Given the description of an element on the screen output the (x, y) to click on. 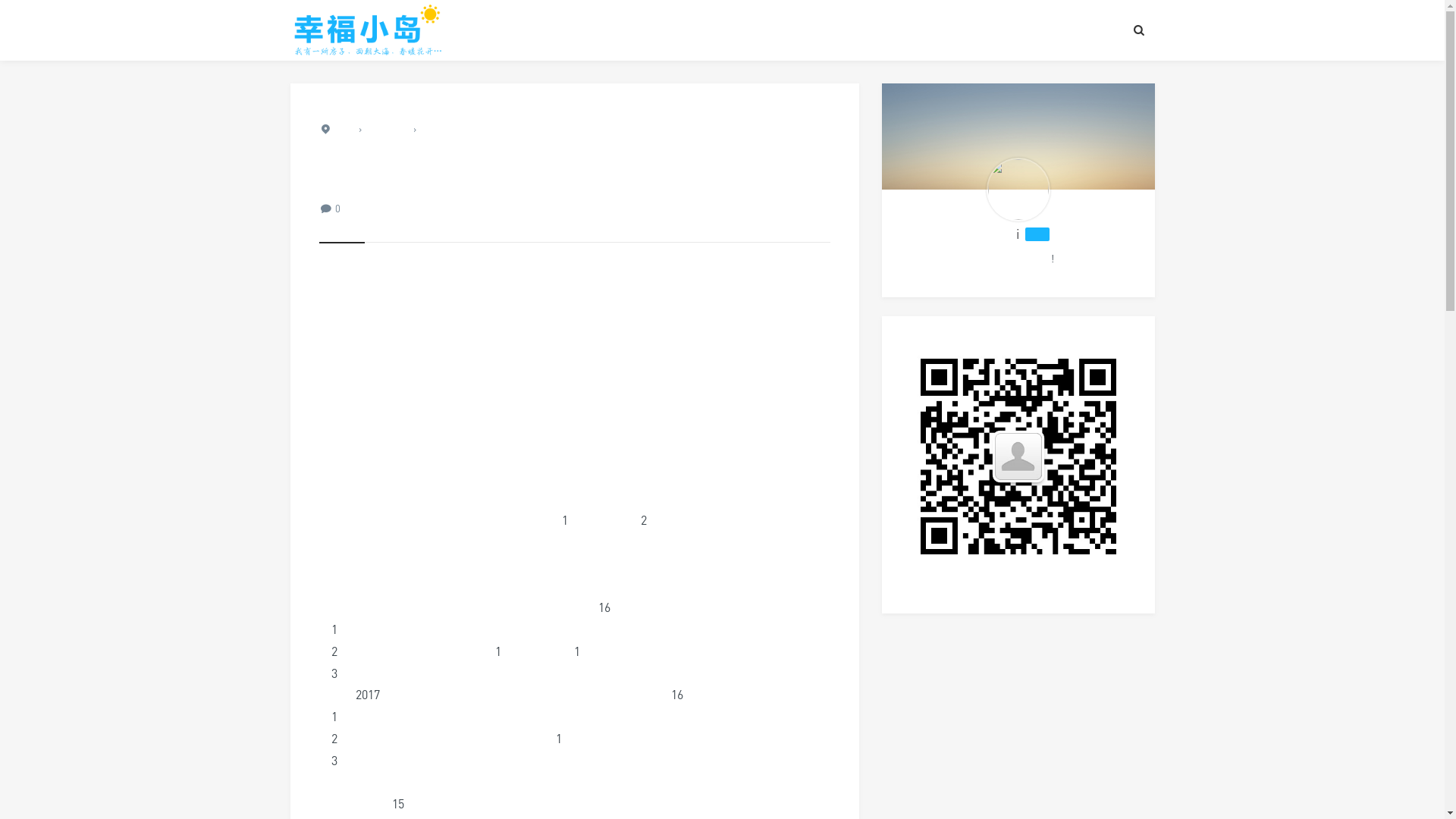
0 Element type: text (337, 208)
i Element type: text (1017, 233)
i Element type: hover (1017, 189)
